Given the description of an element on the screen output the (x, y) to click on. 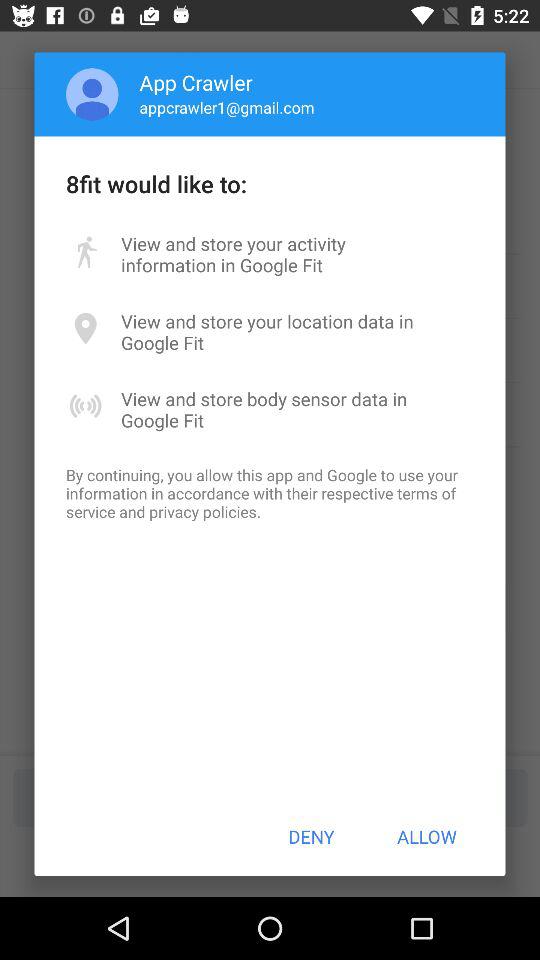
open the item to the left of the allow button (311, 836)
